Given the description of an element on the screen output the (x, y) to click on. 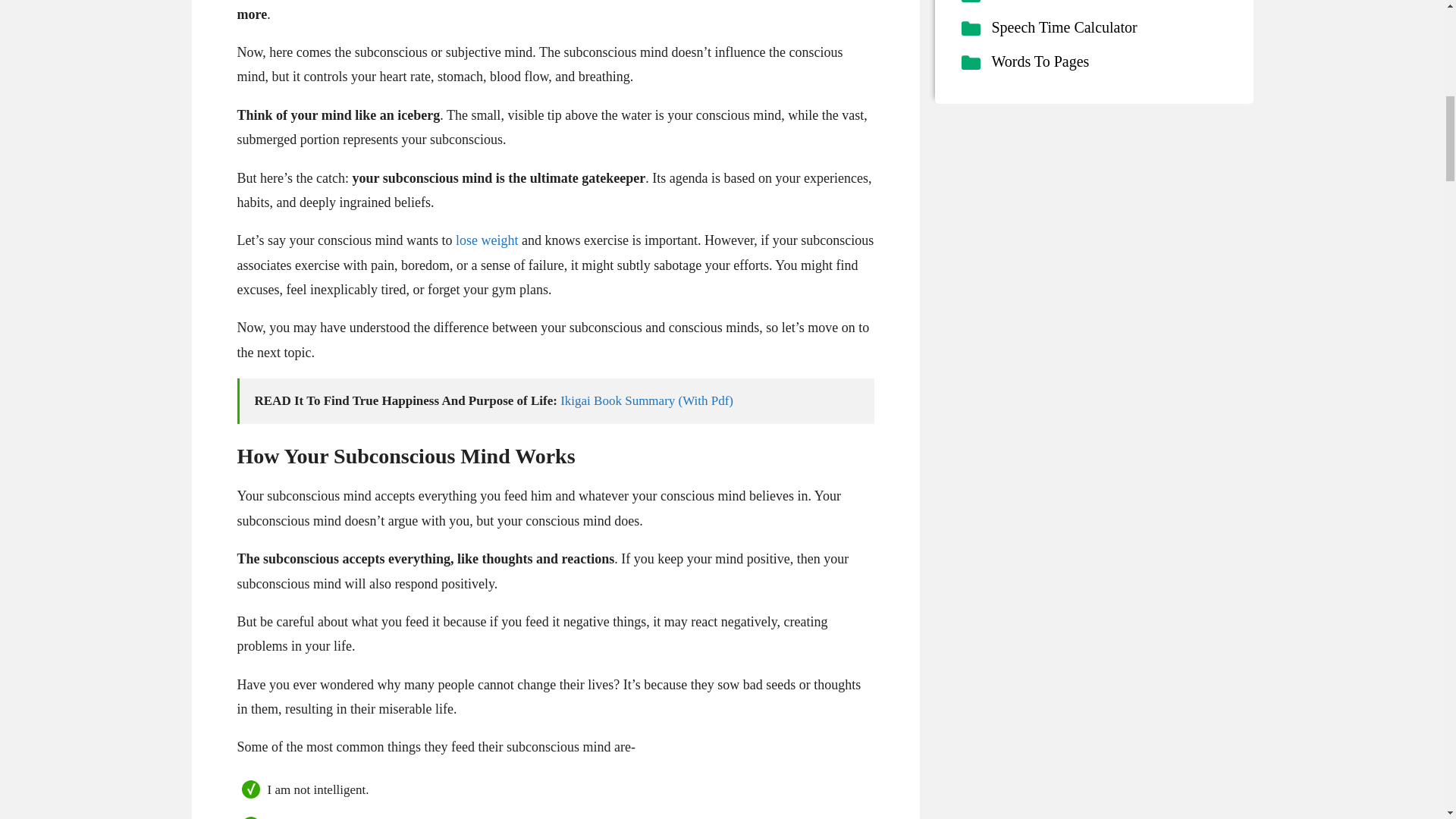
lose weight (486, 240)
